Given the description of an element on the screen output the (x, y) to click on. 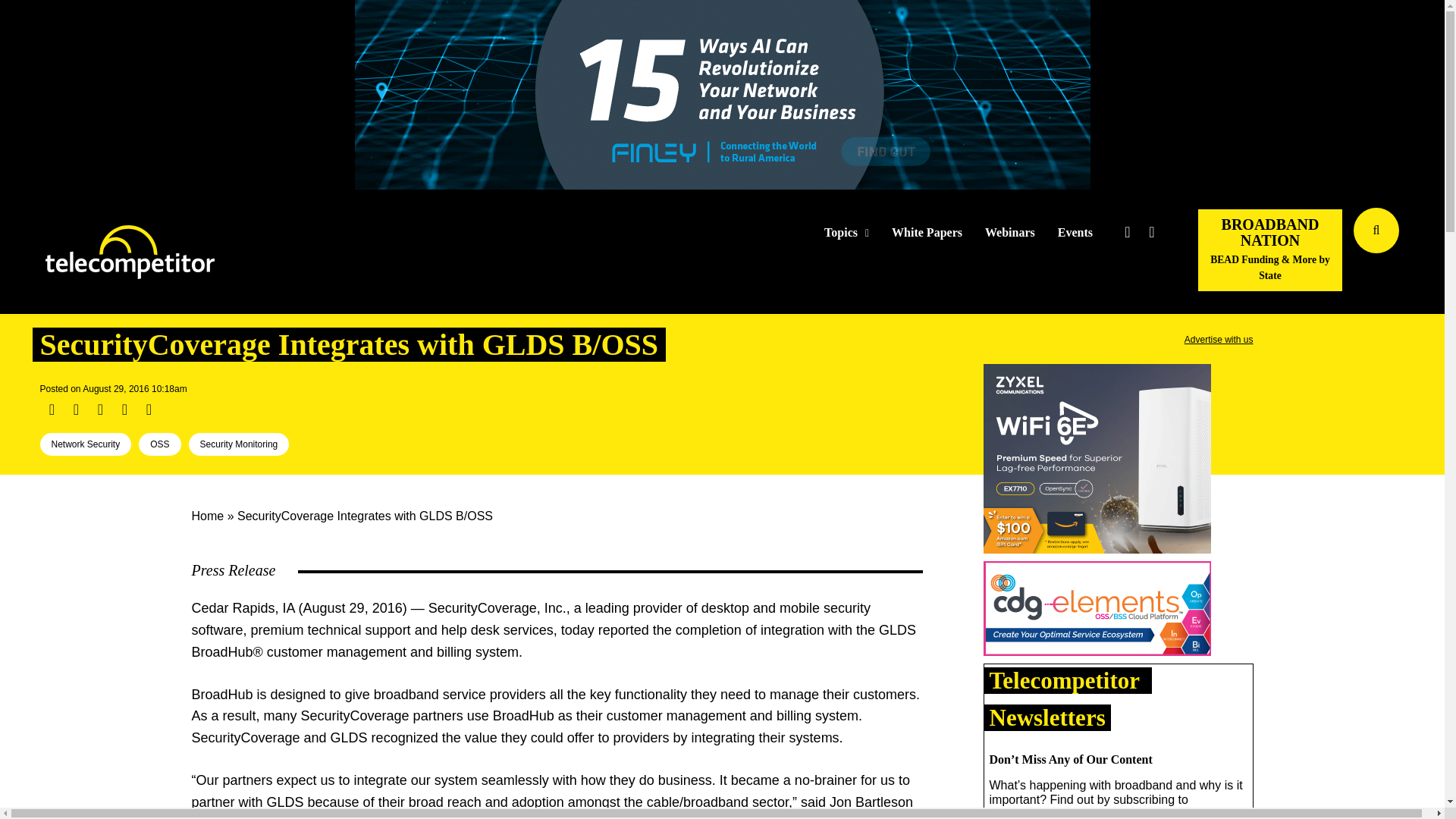
Share on Facebook (51, 409)
Follow Us on Twitter (1127, 232)
Search (1430, 253)
Zyxel Switches (1095, 461)
Pinterest (124, 409)
CDG elements (1095, 611)
Search telecompetitor.com (1376, 230)
Follow Us on LinkedIN (1151, 232)
Topics (846, 232)
Share on Linked In (99, 409)
White Papers (927, 232)
Events (1074, 232)
Spread the word on Twitter (75, 409)
Webinars (1010, 232)
